Given the description of an element on the screen output the (x, y) to click on. 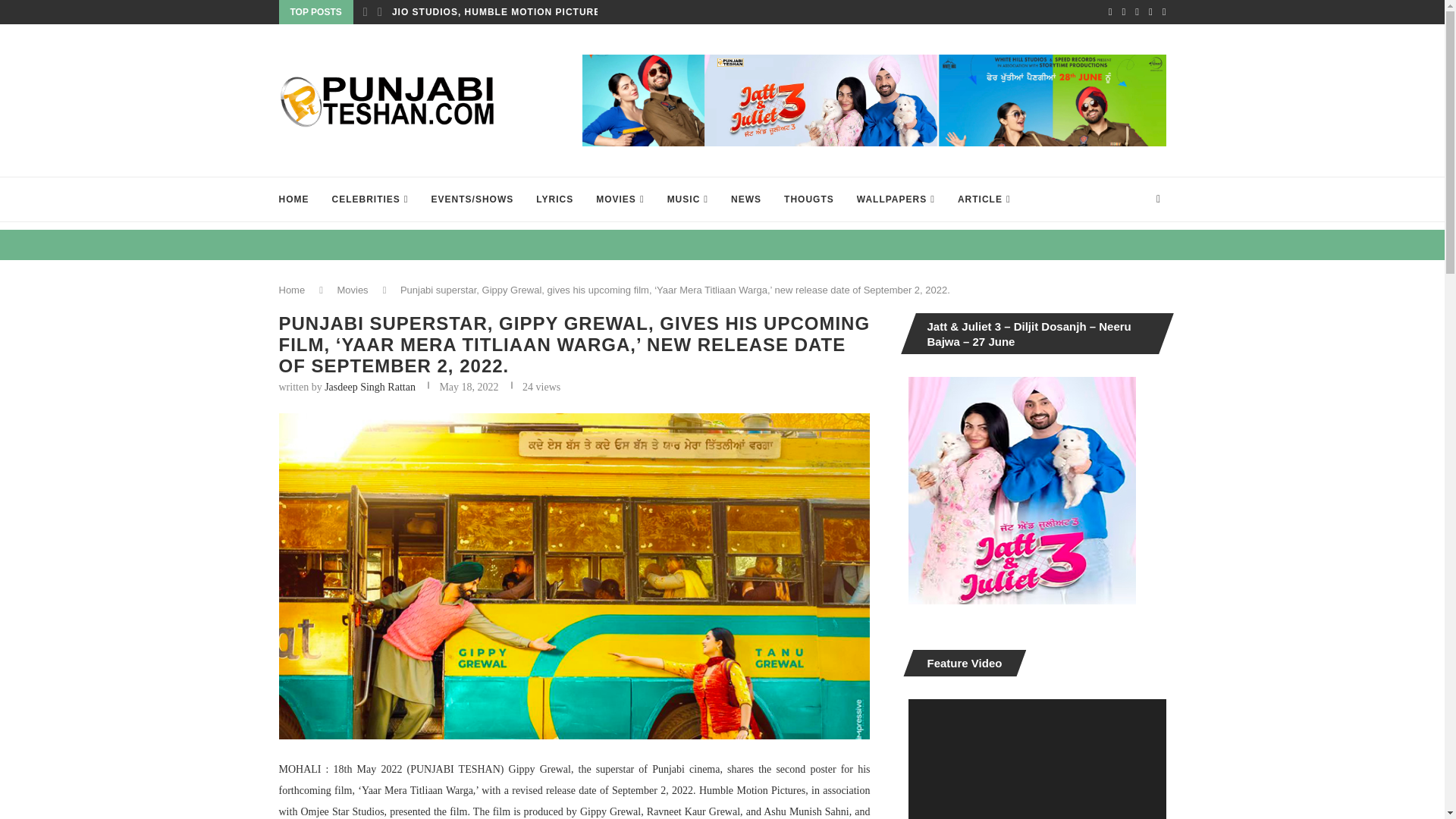
JIO STUDIOS, HUMBLE MOTION PICTURES AND PANORAMA STUDIOS... (572, 12)
MOVIES (619, 199)
CELEBRITIES (370, 199)
